Given the description of an element on the screen output the (x, y) to click on. 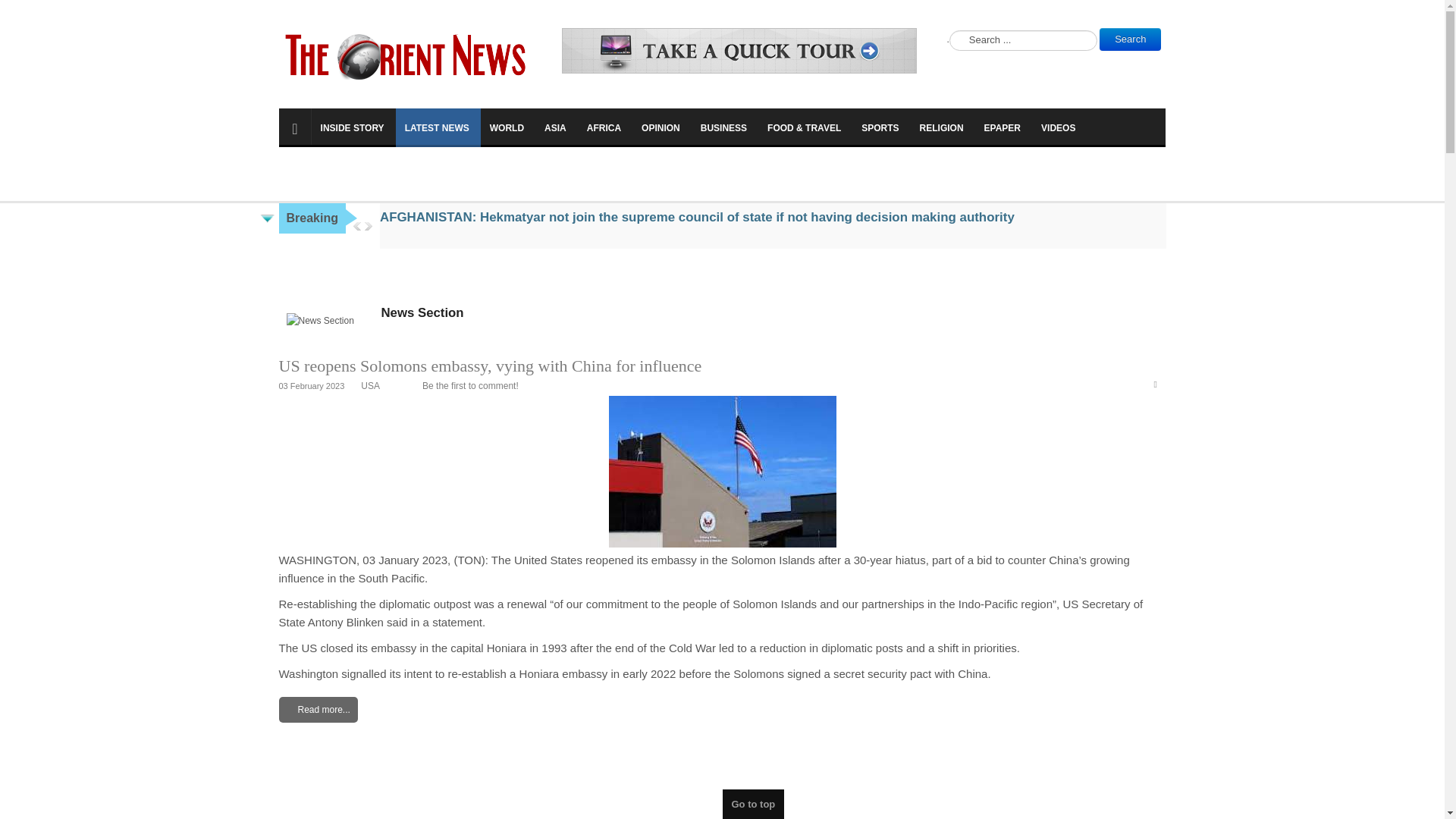
WORLD (507, 126)
AFRICA (604, 126)
ABOUT US (473, 165)
Search ... (1023, 40)
Subscribe to this RSS feed (1160, 386)
ASIA (556, 126)
OPINION (661, 126)
VIDEOS (1059, 126)
Search (1129, 38)
INSIDE STORY (353, 126)
